Given the description of an element on the screen output the (x, y) to click on. 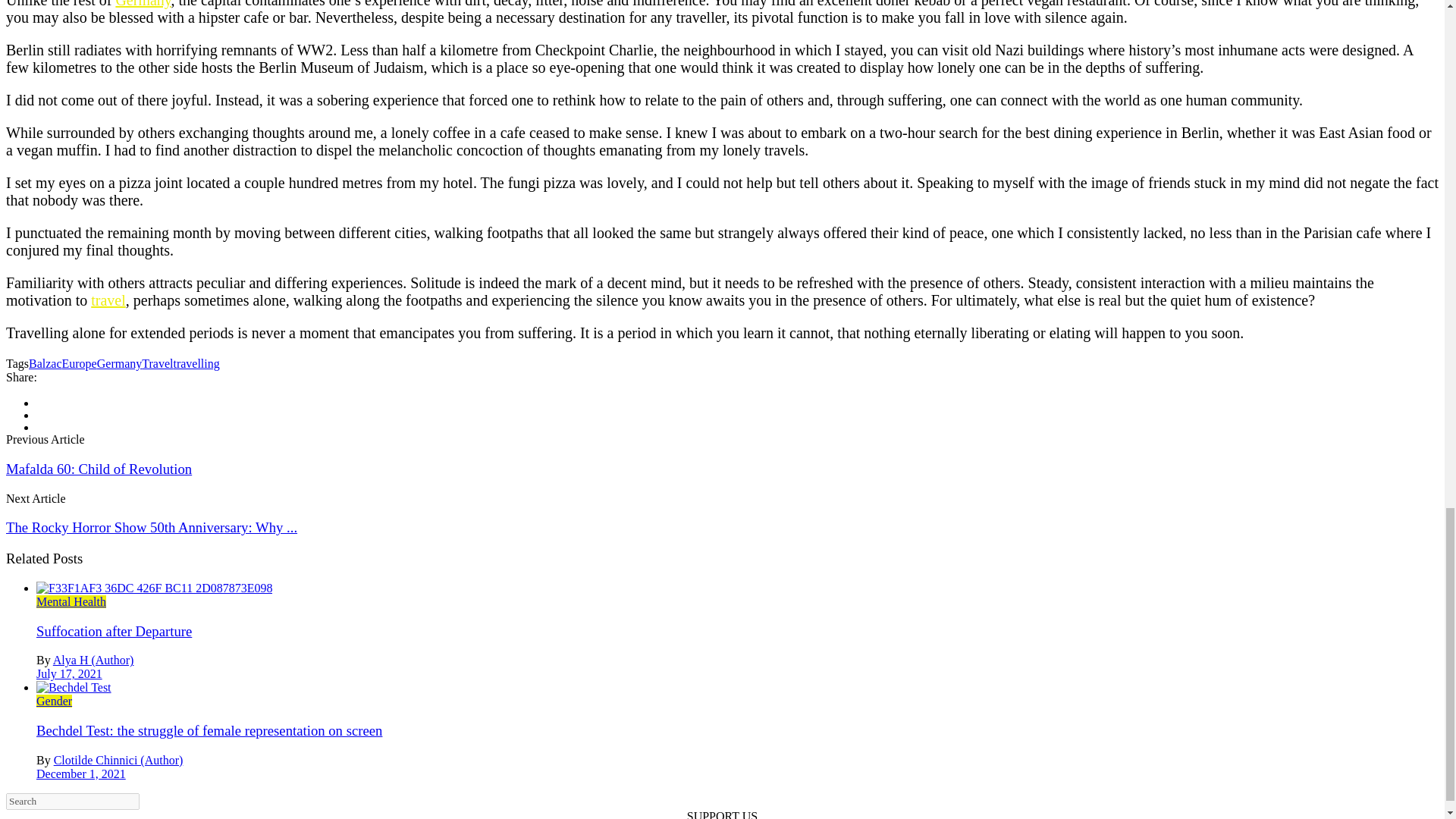
Germany (119, 363)
travelling (196, 363)
Balzac (45, 363)
Search (72, 801)
View all posts tagged Germany (119, 363)
View all posts tagged travelling (196, 363)
View all posts tagged Europe (79, 363)
travel (107, 299)
View all posts tagged Balzac (45, 363)
Mafalda 60: Child of Revolution (98, 468)
View all posts tagged Travel (157, 363)
Travel (157, 363)
Europe (79, 363)
Germany (142, 4)
The Rocky Horror Show 50th Anniversary: Why ... (151, 527)
